Given the description of an element on the screen output the (x, y) to click on. 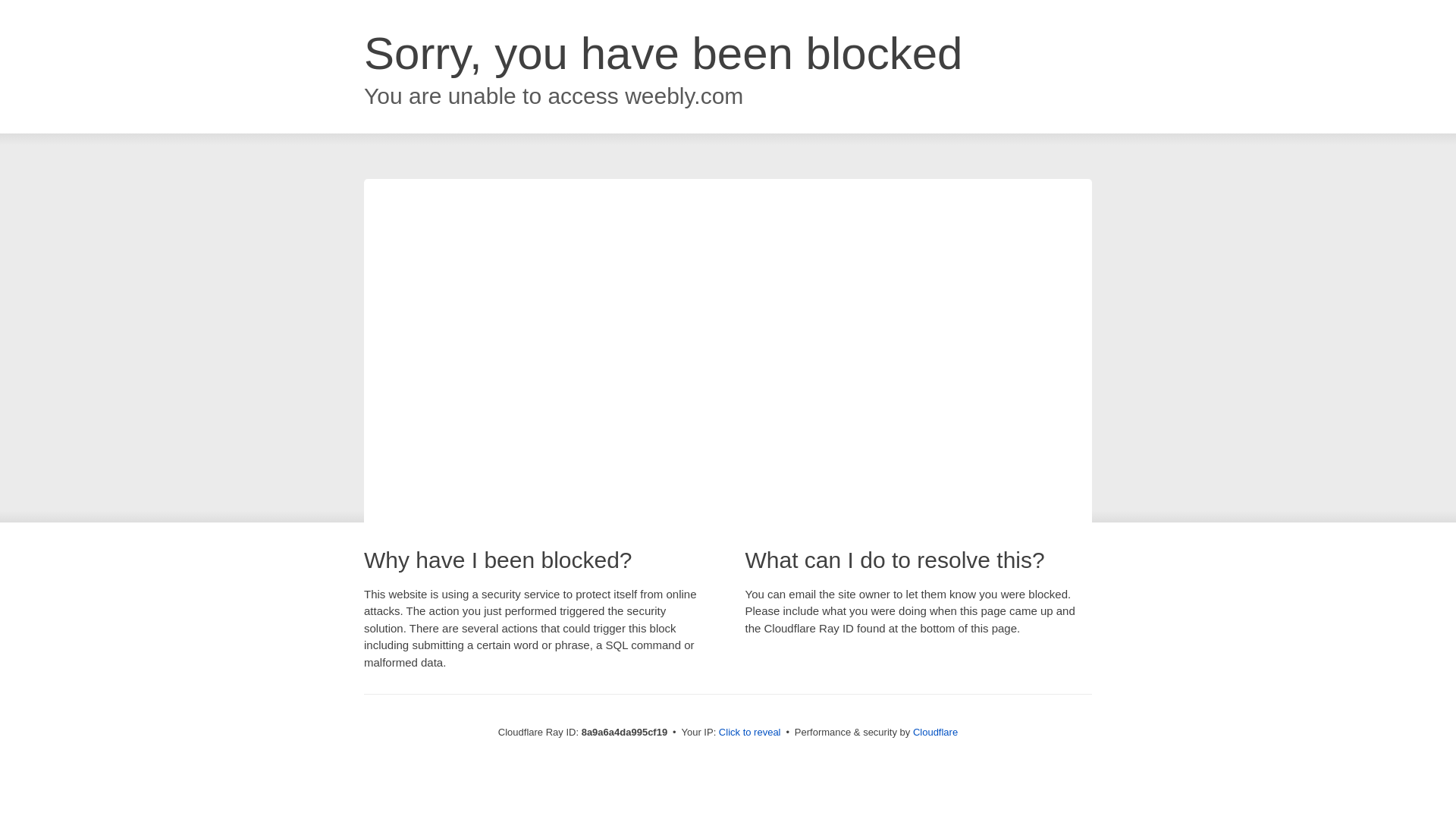
Click to reveal (749, 732)
Cloudflare (935, 731)
